Given the description of an element on the screen output the (x, y) to click on. 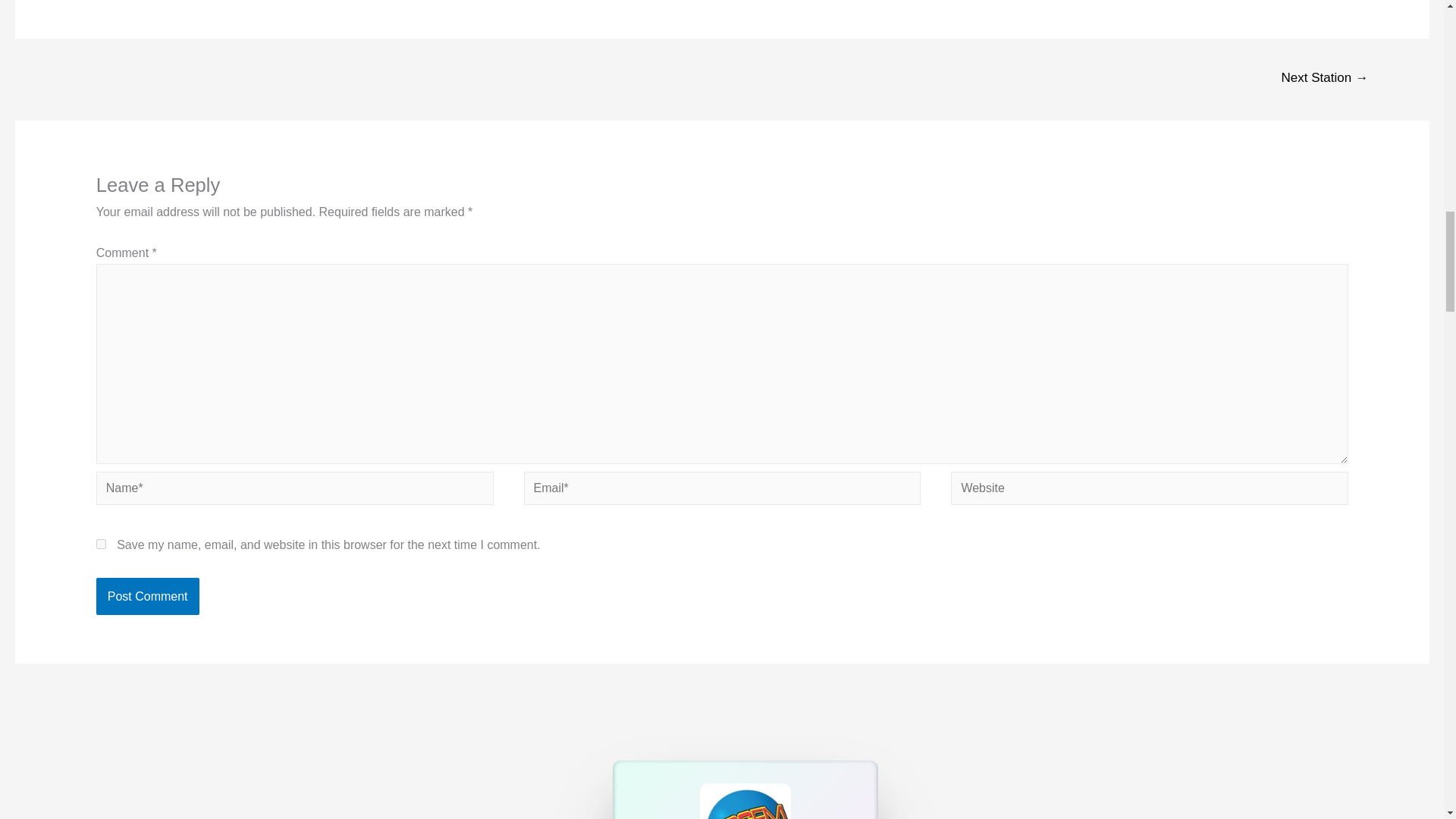
Post Comment (147, 596)
yes (101, 543)
